Given the description of an element on the screen output the (x, y) to click on. 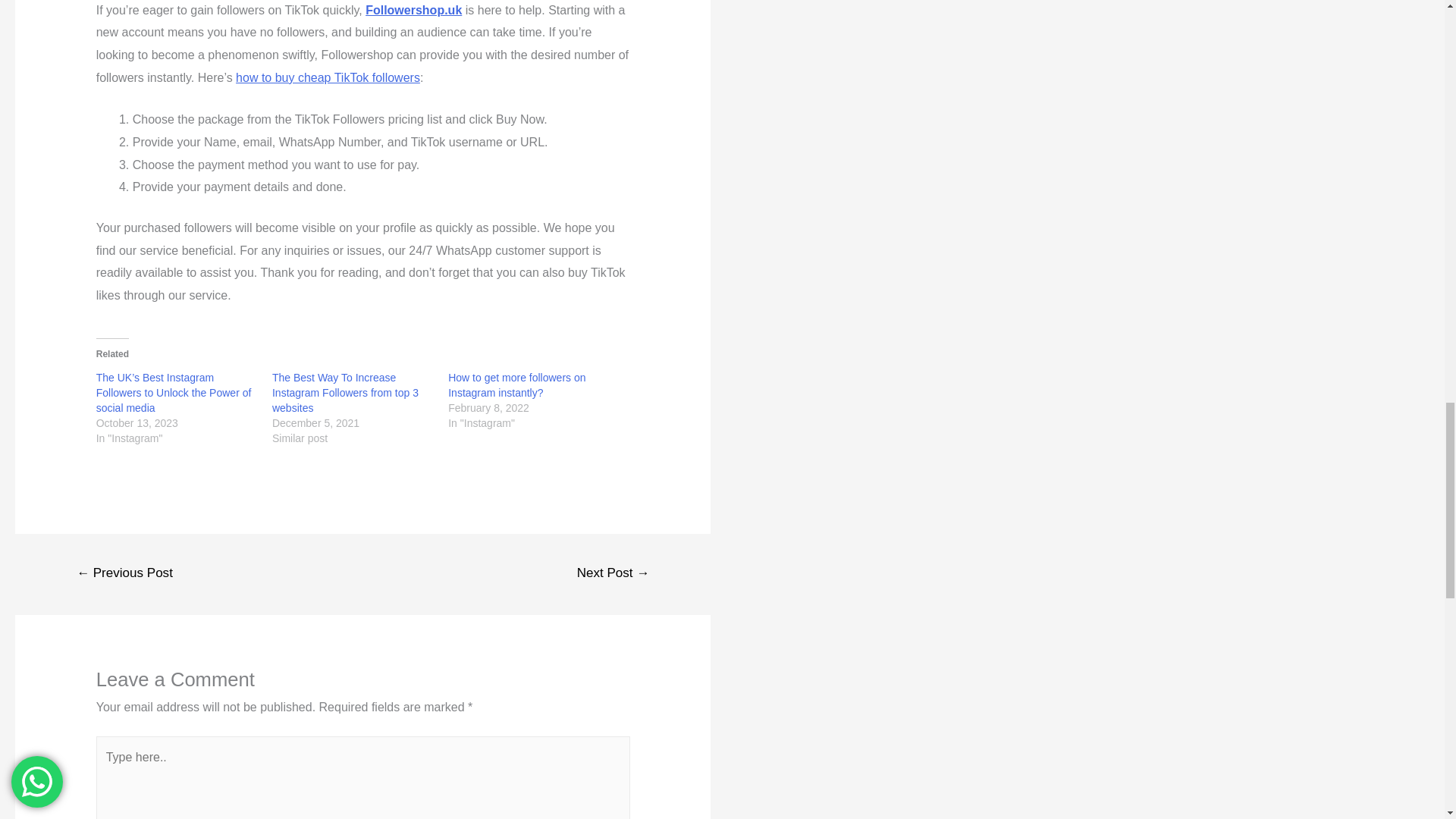
How to get more followers on Instagram instantly? (516, 384)
